Given the description of an element on the screen output the (x, y) to click on. 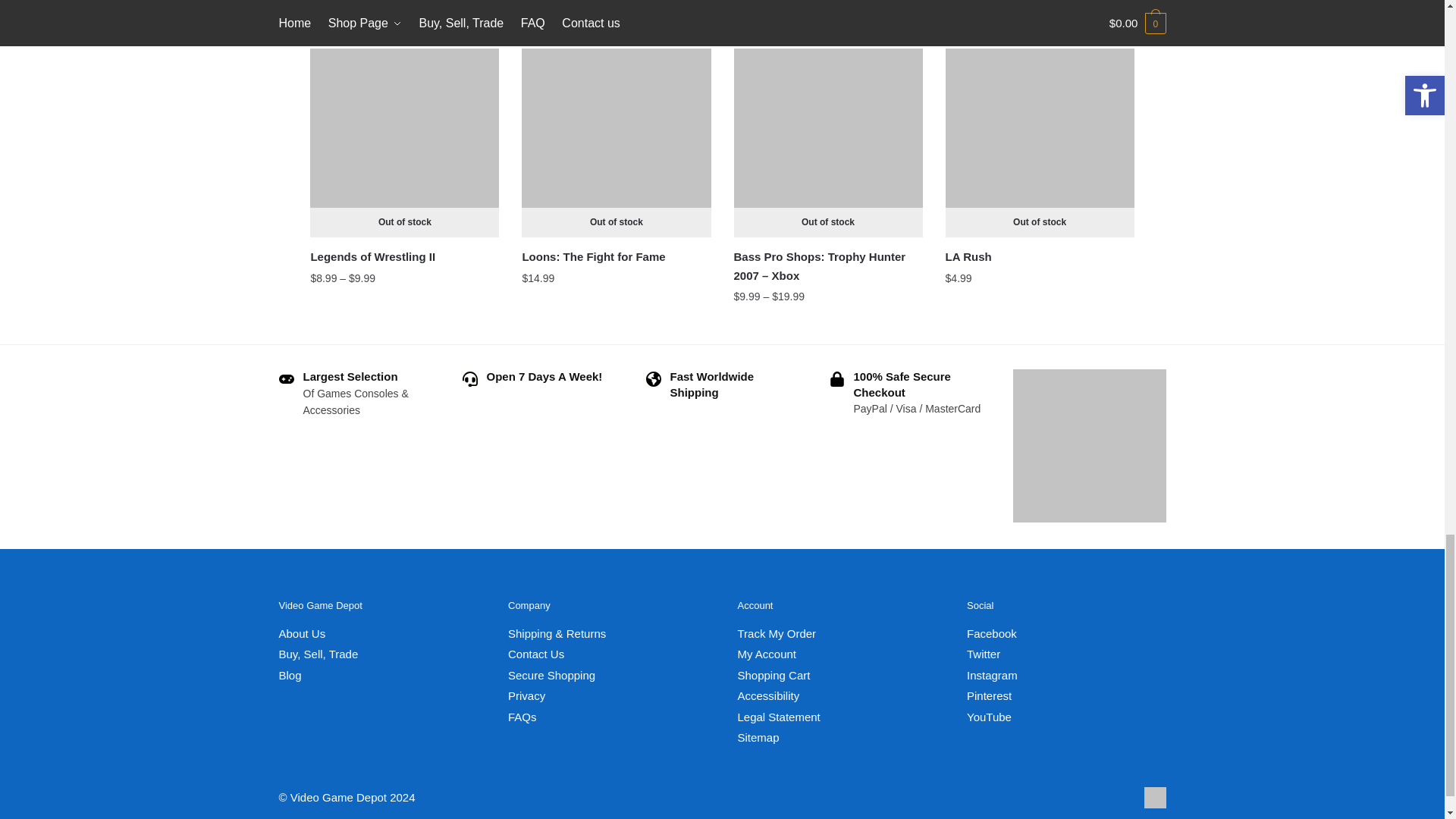
Legends of Wrestling II (404, 142)
